Given the description of an element on the screen output the (x, y) to click on. 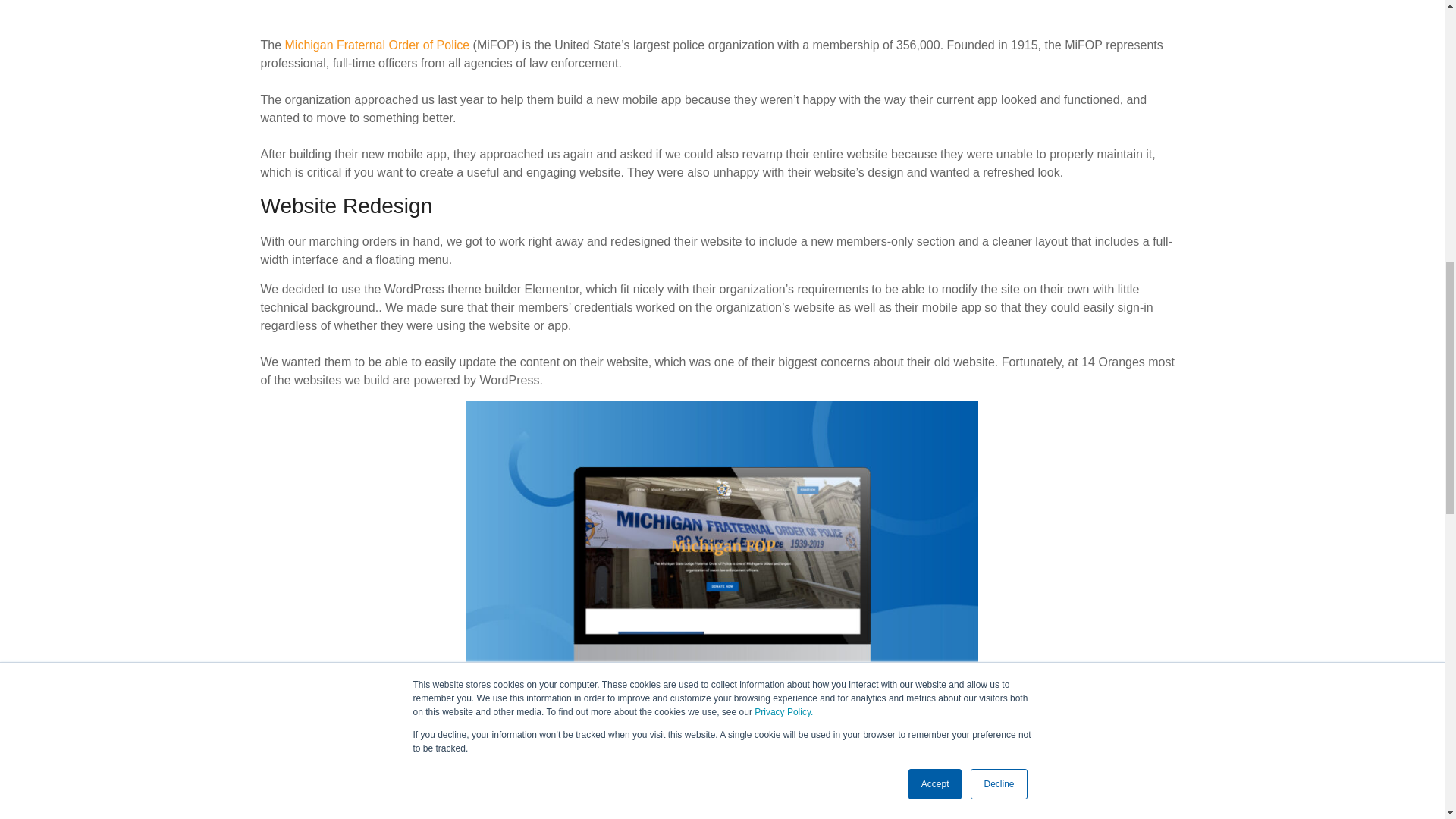
Michigan Fraternal Order of Police (377, 44)
